Given the description of an element on the screen output the (x, y) to click on. 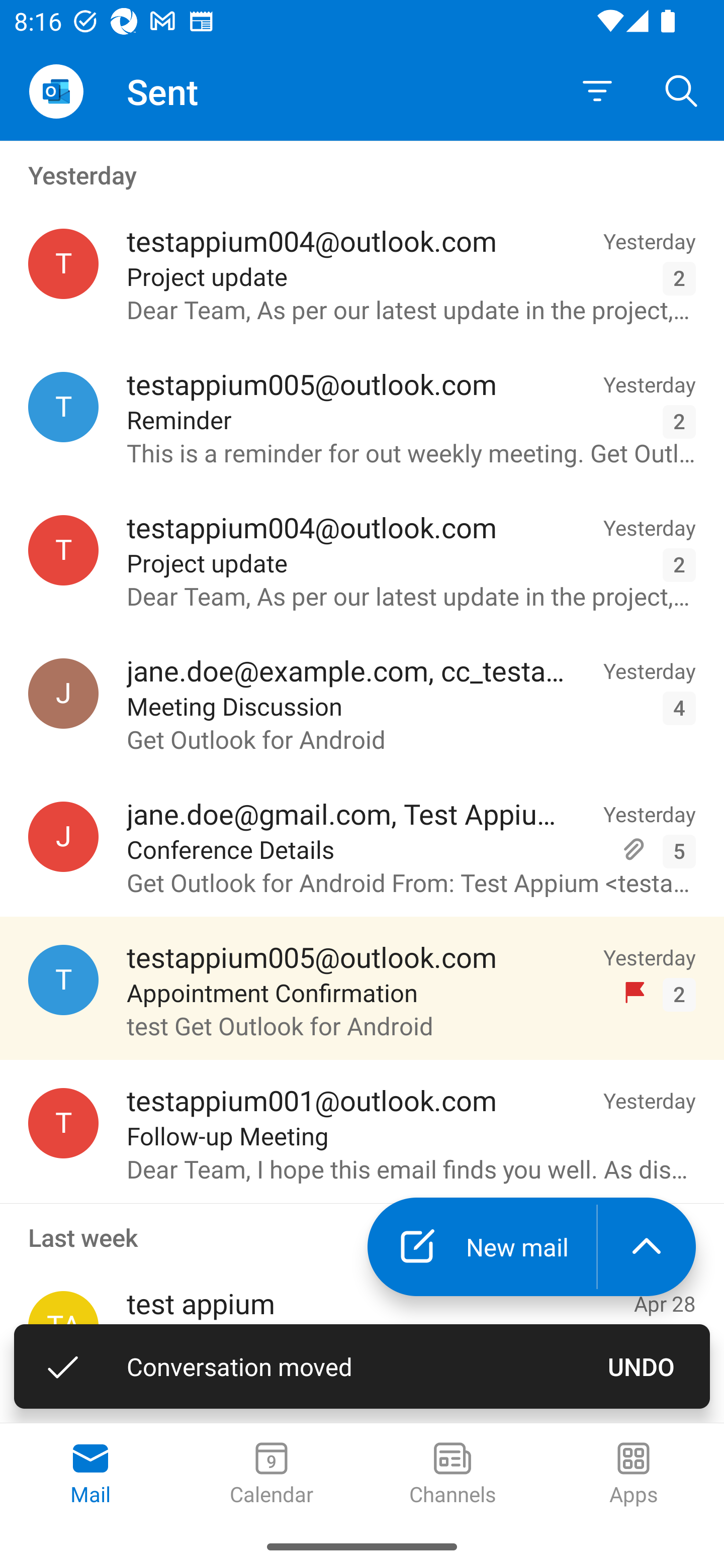
Search, ,  (681, 90)
Open Navigation Drawer (55, 91)
Filter (597, 91)
jane.doe@example.com, jane.doe@example.com (63, 693)
jane.doe@gmail.com, jane.doe@gmail.com (63, 836)
New mail (481, 1246)
launch the extended action menu (646, 1246)
UNDO (641, 1366)
Calendar (271, 1474)
Channels (452, 1474)
Apps (633, 1474)
